Given the description of an element on the screen output the (x, y) to click on. 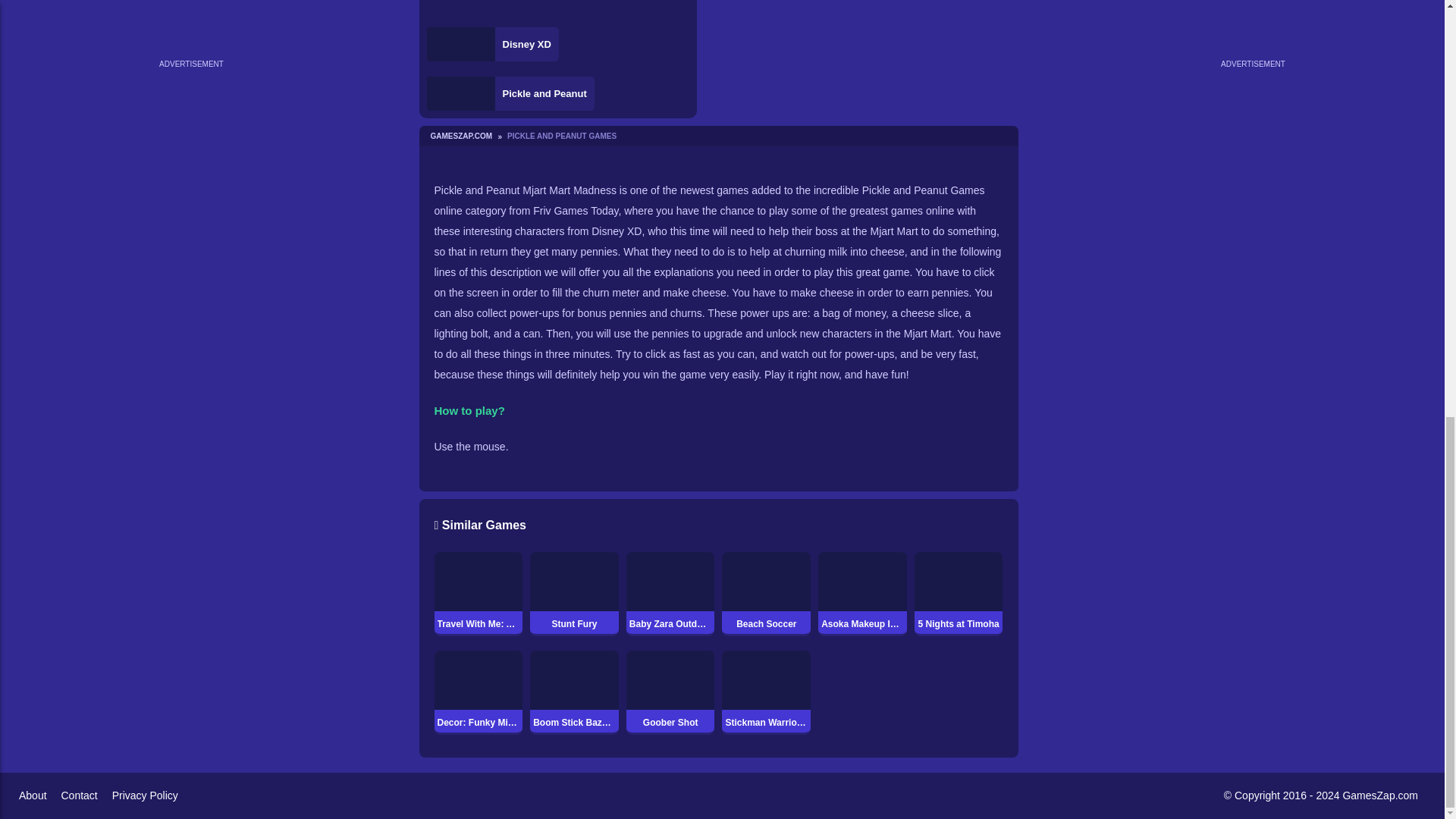
GAMESZAP.COM (465, 135)
Pickle and Peanut (510, 93)
Disney XD (491, 44)
